Given the description of an element on the screen output the (x, y) to click on. 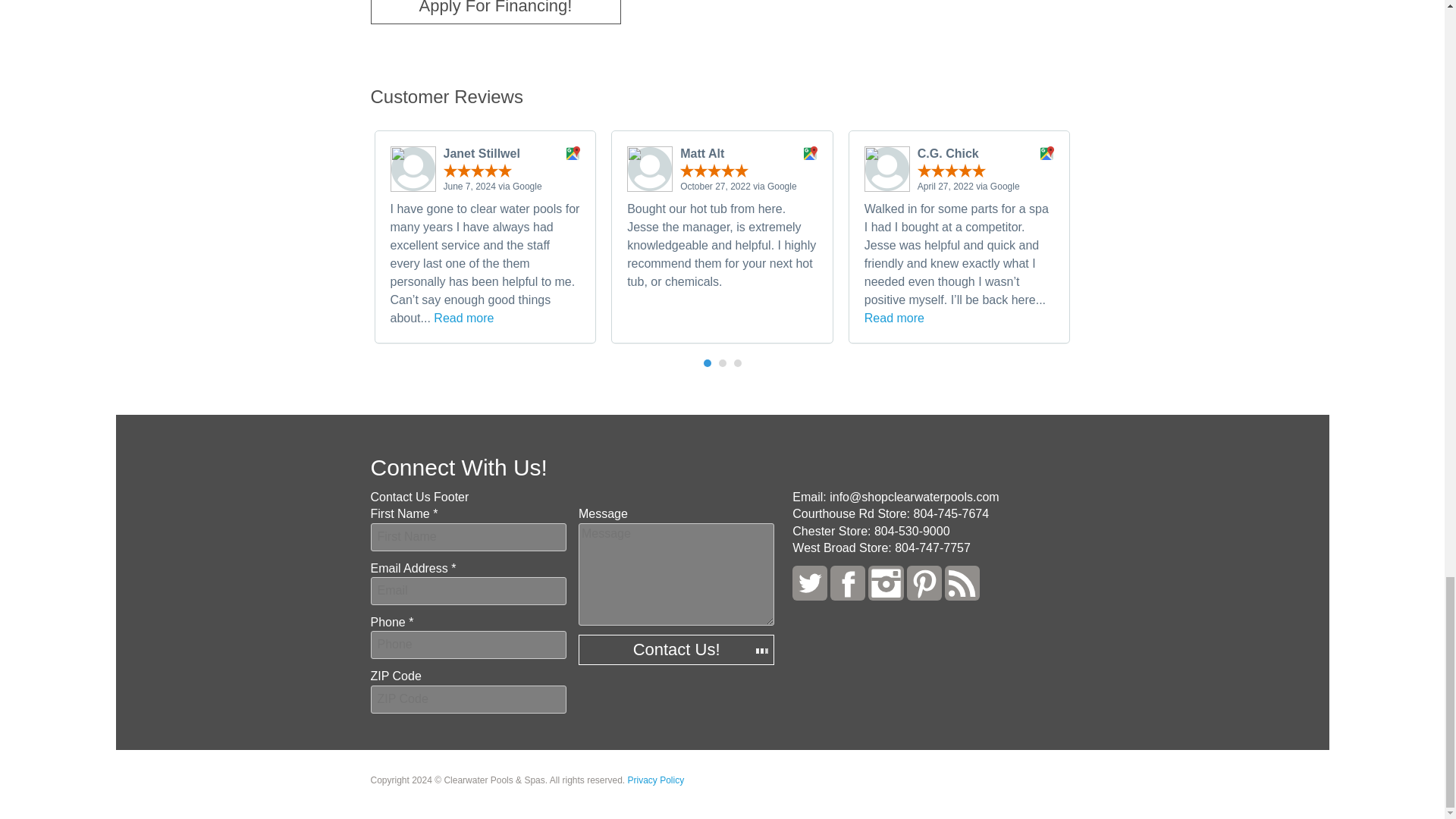
Contact Us! (676, 649)
